Given the description of an element on the screen output the (x, y) to click on. 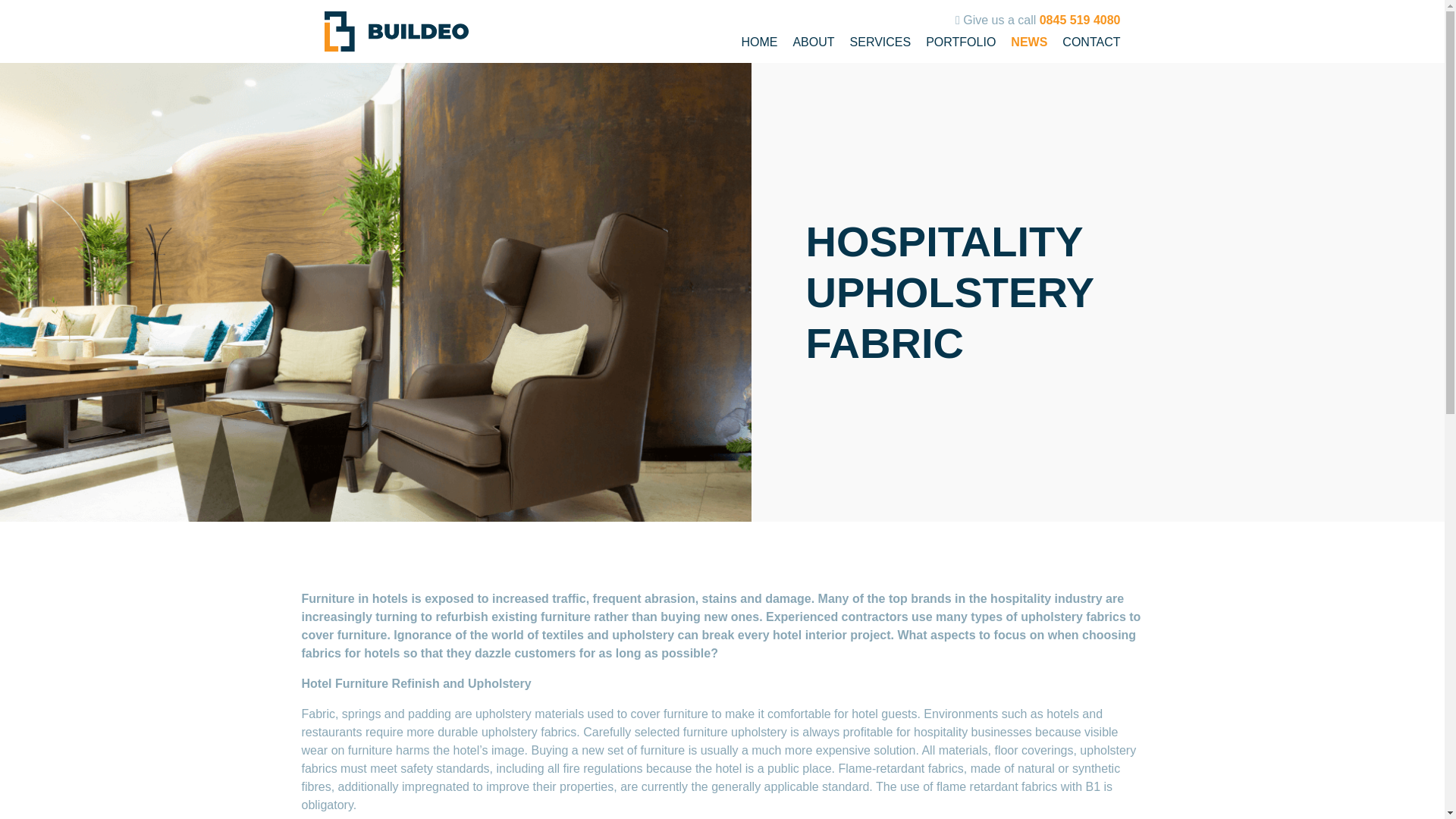
NEWS (1028, 42)
0845 519 4080 (1080, 19)
HOME (759, 42)
PORTFOLIO (960, 42)
CONTACT (1090, 42)
SERVICES (880, 42)
ABOUT (813, 42)
